Given the description of an element on the screen output the (x, y) to click on. 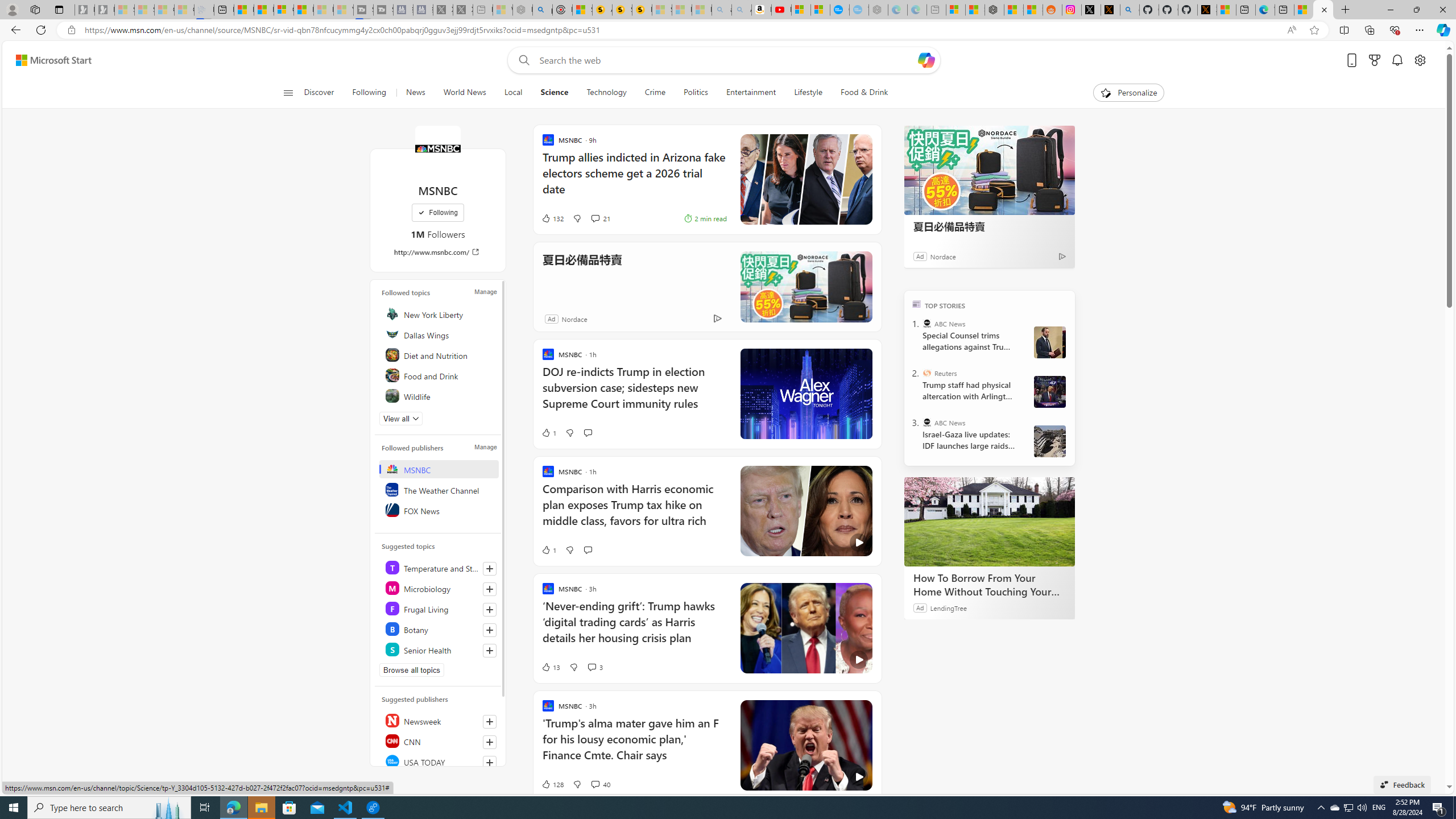
View comments 40 Comment (594, 783)
Dallas Wings (439, 334)
Microsoft rewards (1374, 60)
New York Liberty (439, 313)
Class: button-glyph (287, 92)
Food & Drink (859, 92)
World News (464, 92)
